Given the description of an element on the screen output the (x, y) to click on. 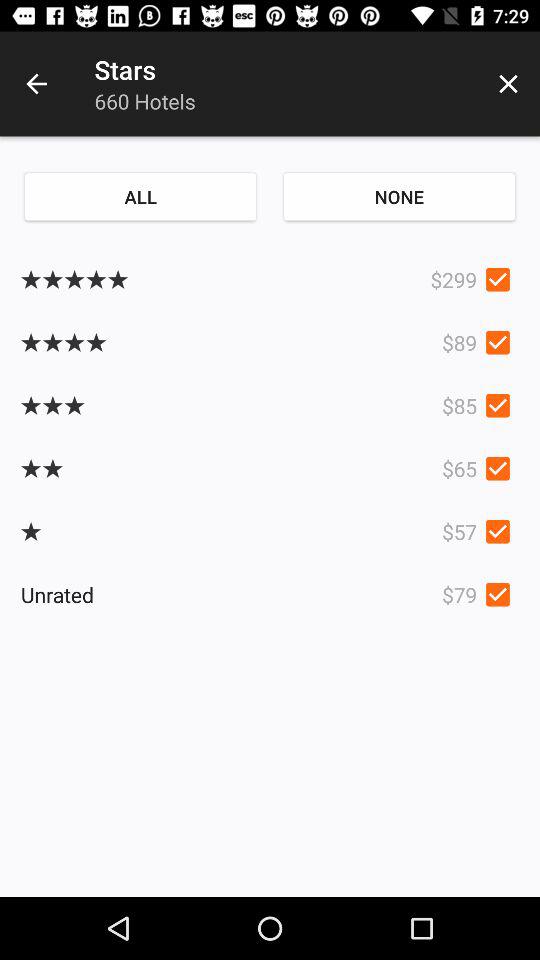
swipe to the all icon (140, 196)
